Given the description of an element on the screen output the (x, y) to click on. 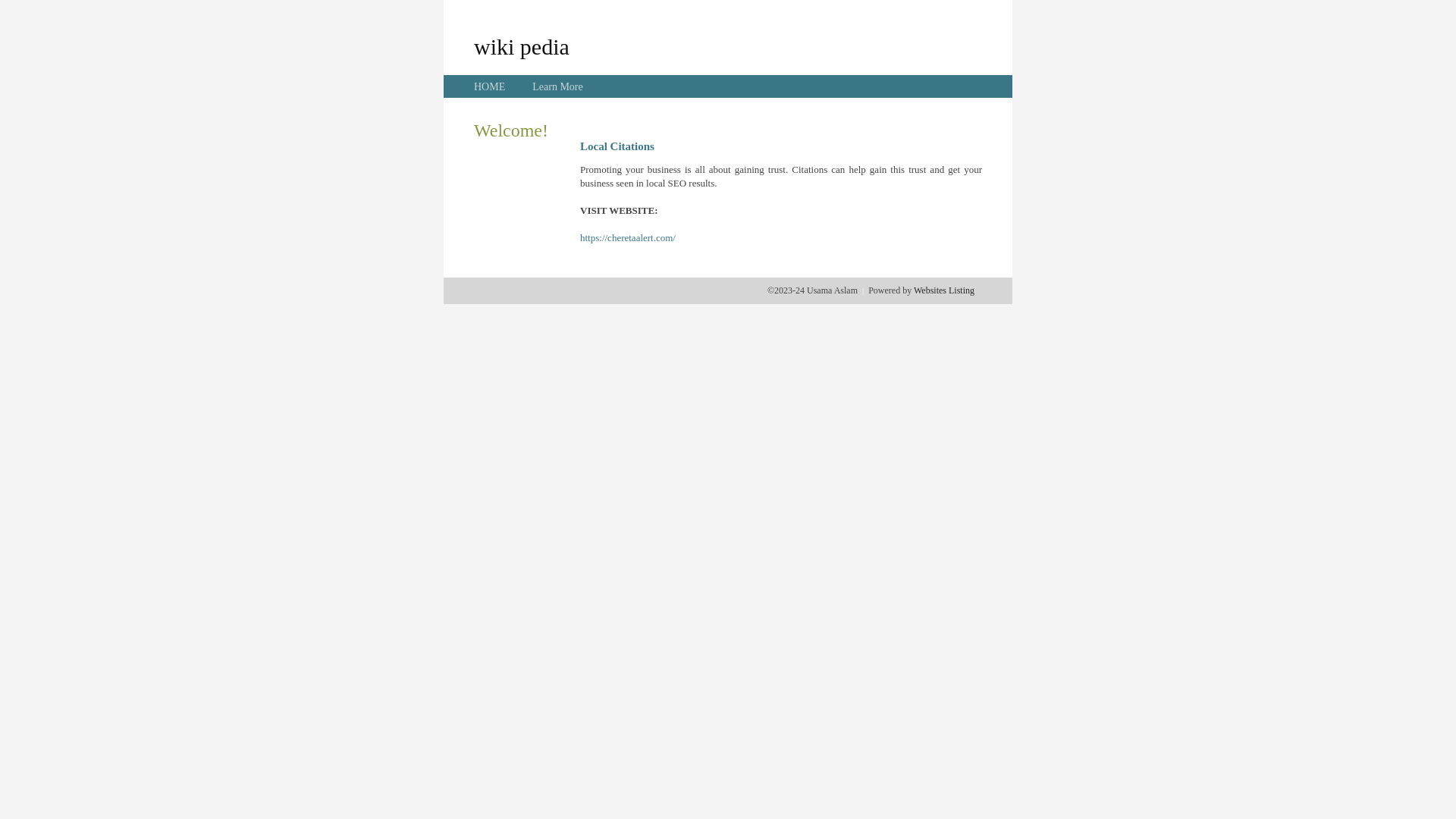
Websites Listing Element type: text (943, 290)
HOME Element type: text (489, 86)
wiki pedia Element type: text (521, 46)
Learn More Element type: text (557, 86)
https://cheretaalert.com/ Element type: text (627, 237)
